Given the description of an element on the screen output the (x, y) to click on. 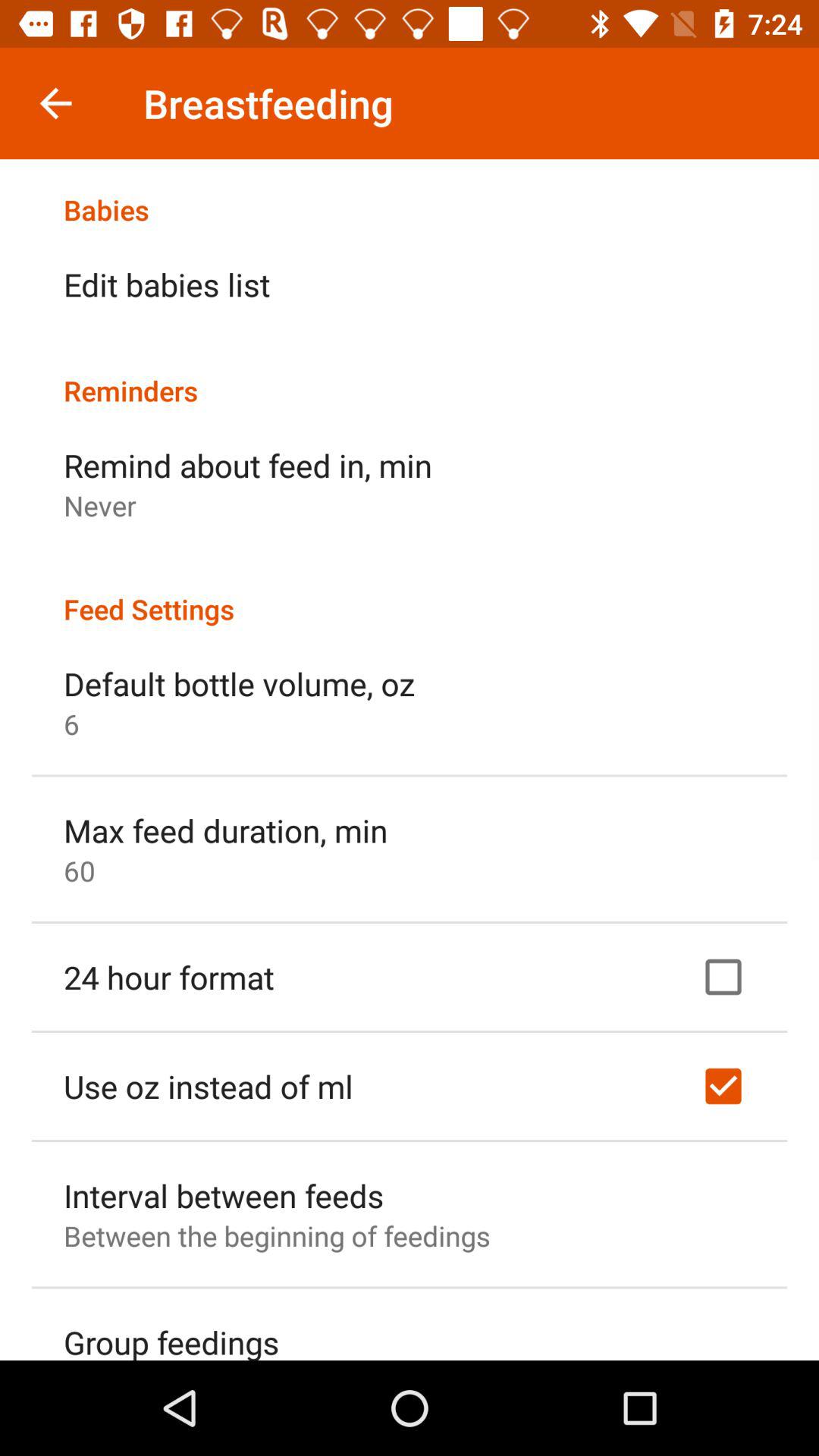
choose the never item (99, 505)
